Given the description of an element on the screen output the (x, y) to click on. 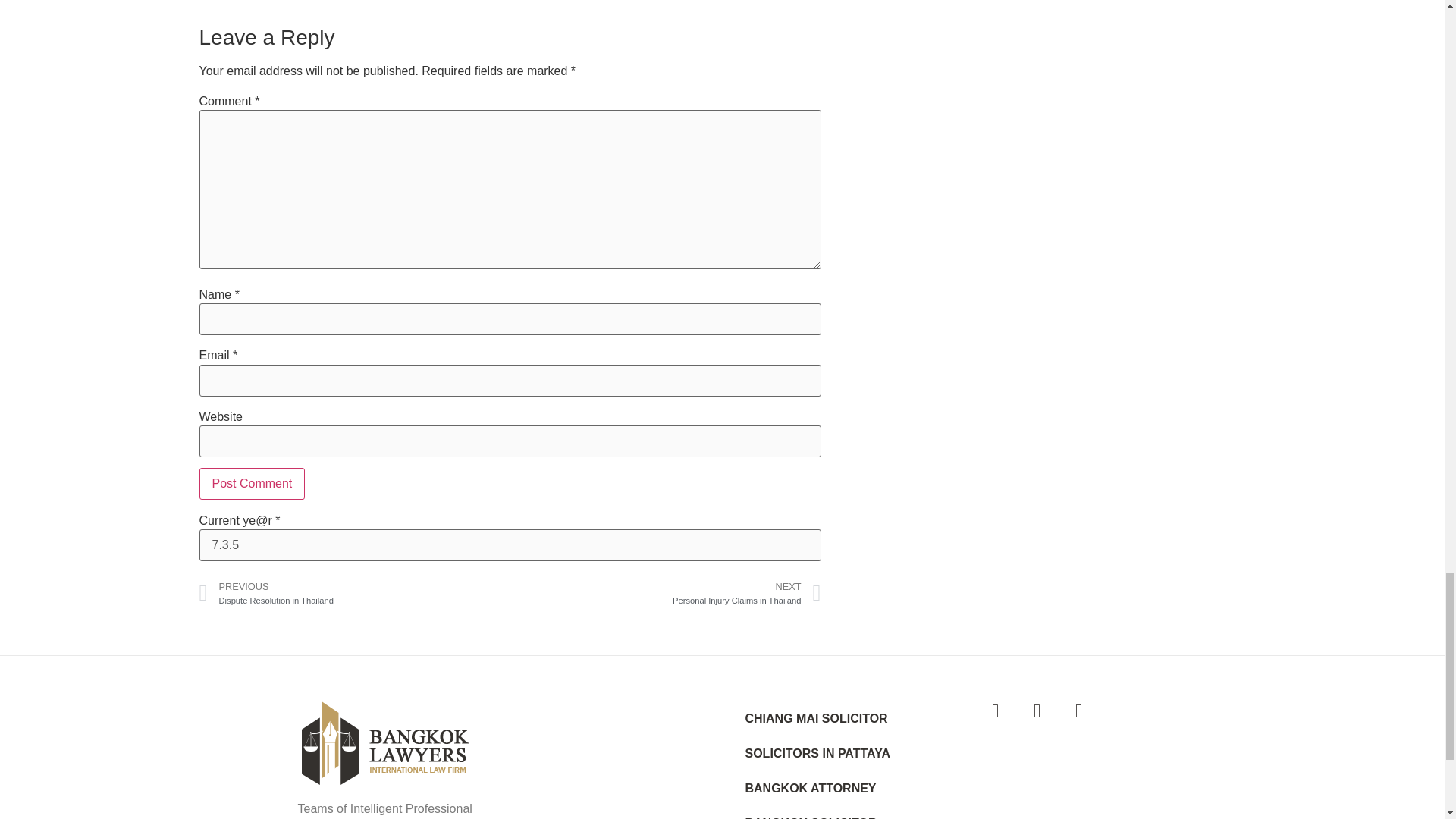
Post Comment (251, 483)
7.3.5 (509, 545)
